Given the description of an element on the screen output the (x, y) to click on. 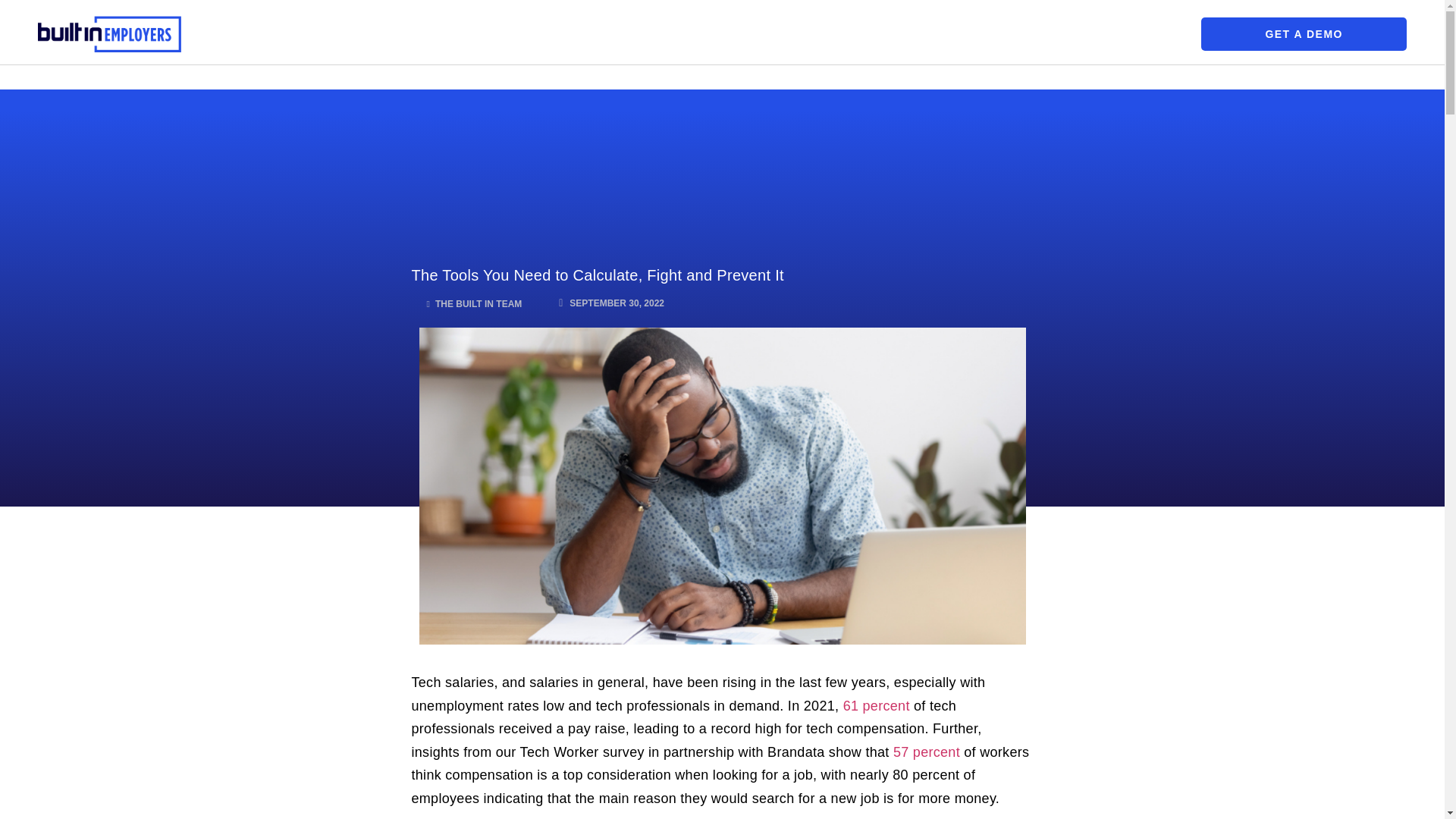
61 percent (876, 705)
THE BUILT IN TEAM (473, 303)
GET A DEMO (1303, 33)
57 percent (926, 752)
